Given the description of an element on the screen output the (x, y) to click on. 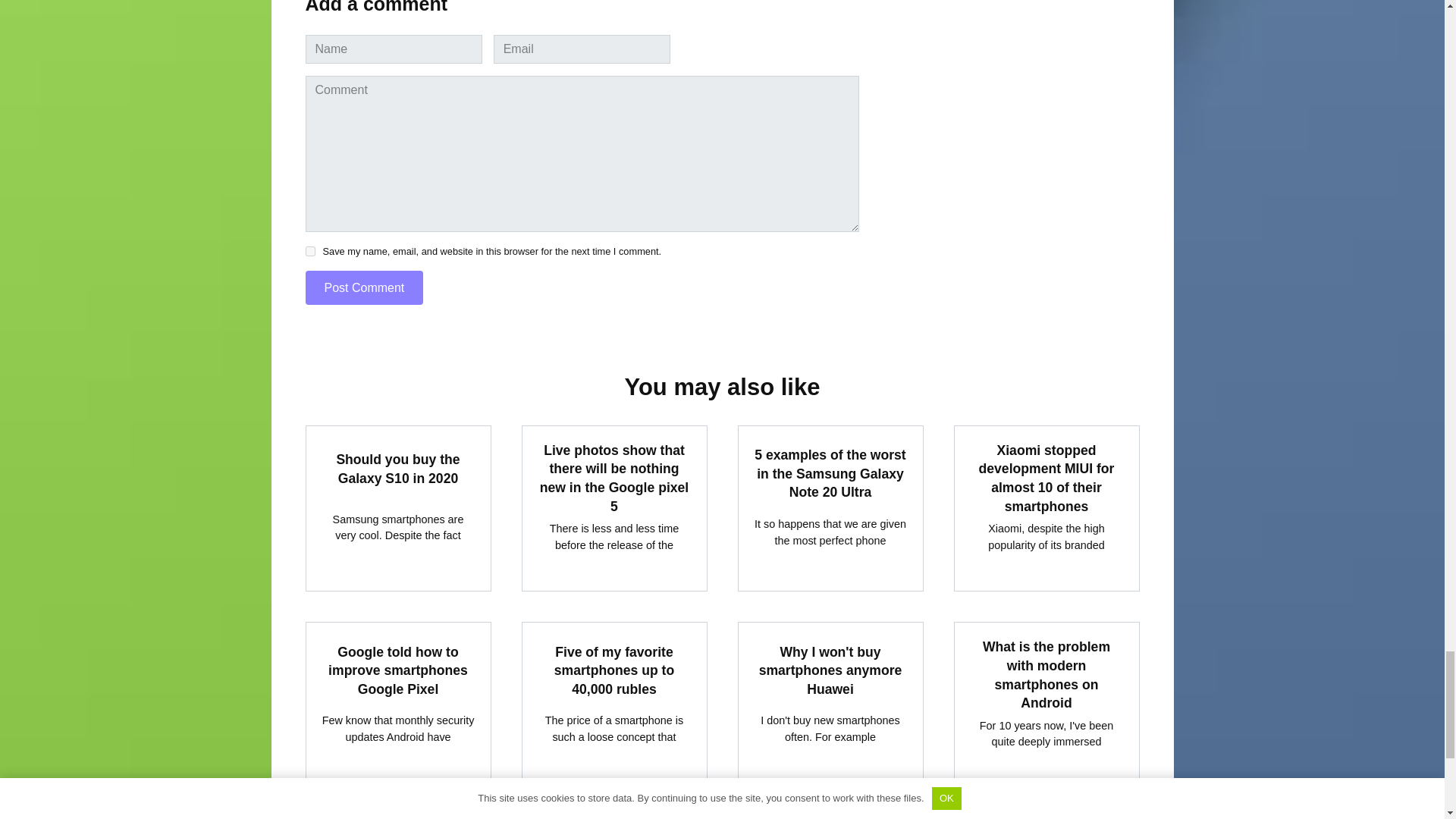
Post Comment (363, 287)
Post Comment (363, 287)
yes (309, 251)
